Given the description of an element on the screen output the (x, y) to click on. 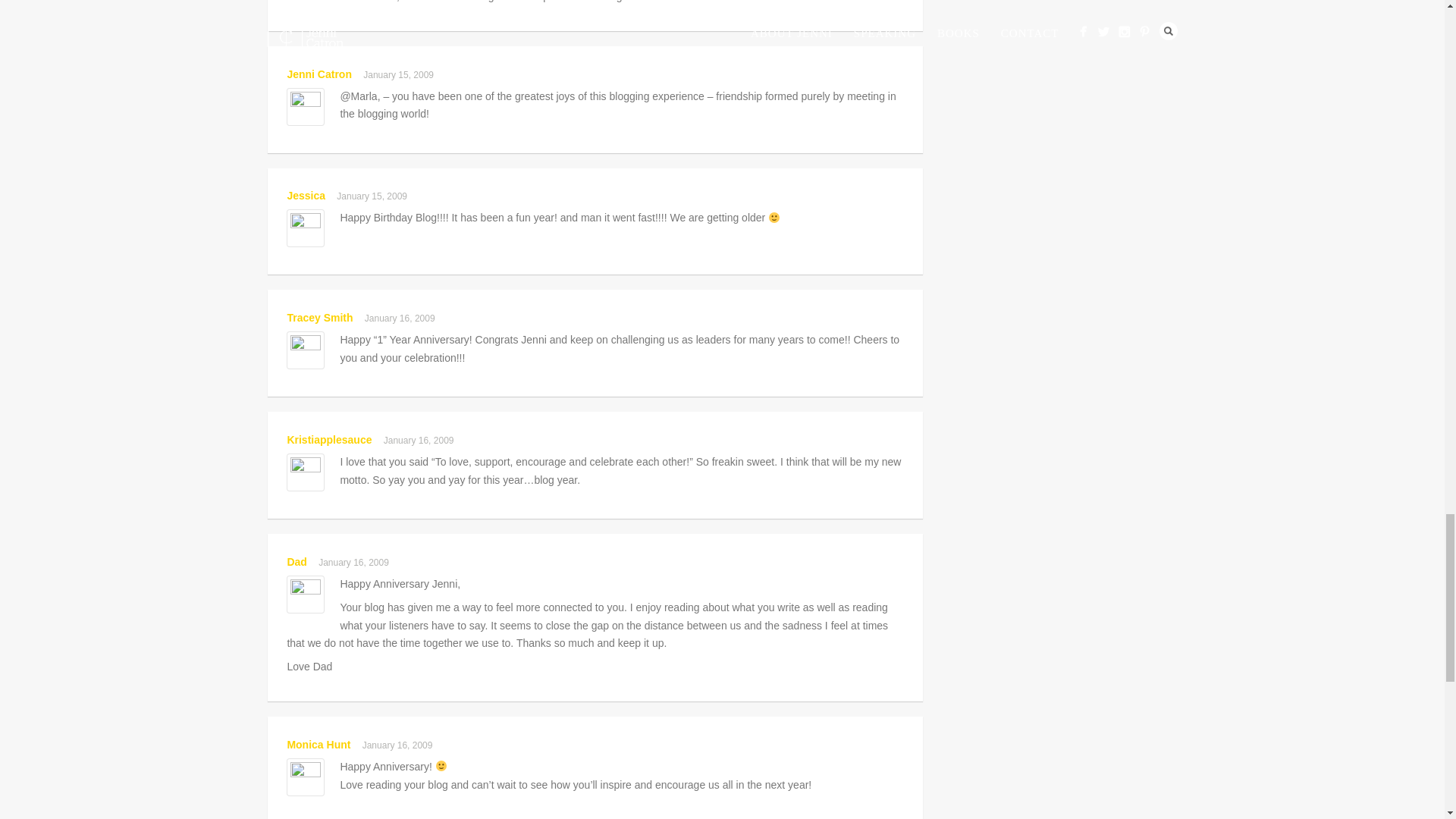
Jenni Catron (319, 73)
Kristiapplesauce (328, 439)
Tracey Smith (319, 317)
